Given the description of an element on the screen output the (x, y) to click on. 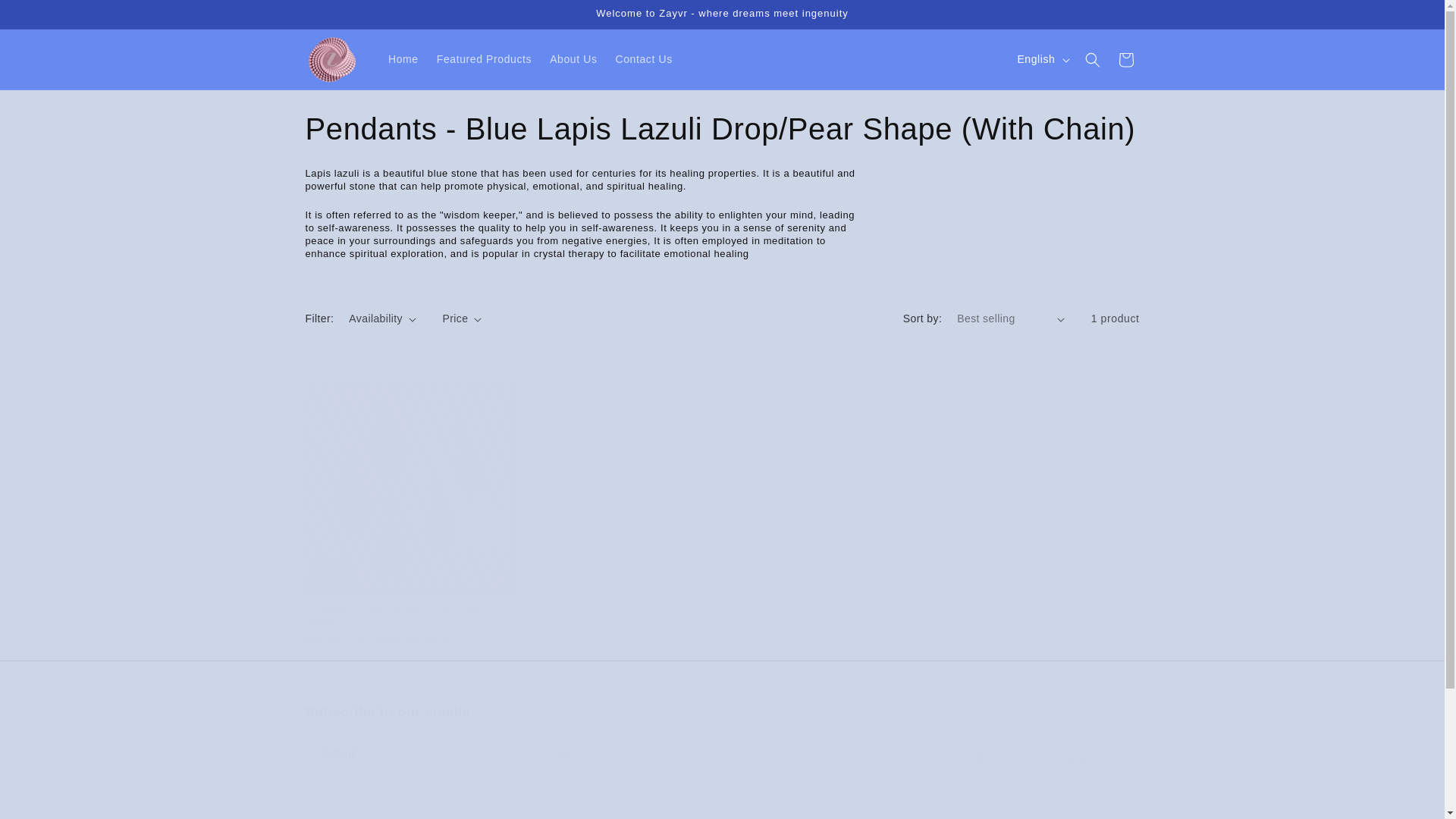
Home (403, 59)
Cart (1124, 59)
English (1041, 59)
Skip to content (48, 19)
Contact Us (644, 59)
About Us (572, 59)
Featured Products (721, 737)
